Given the description of an element on the screen output the (x, y) to click on. 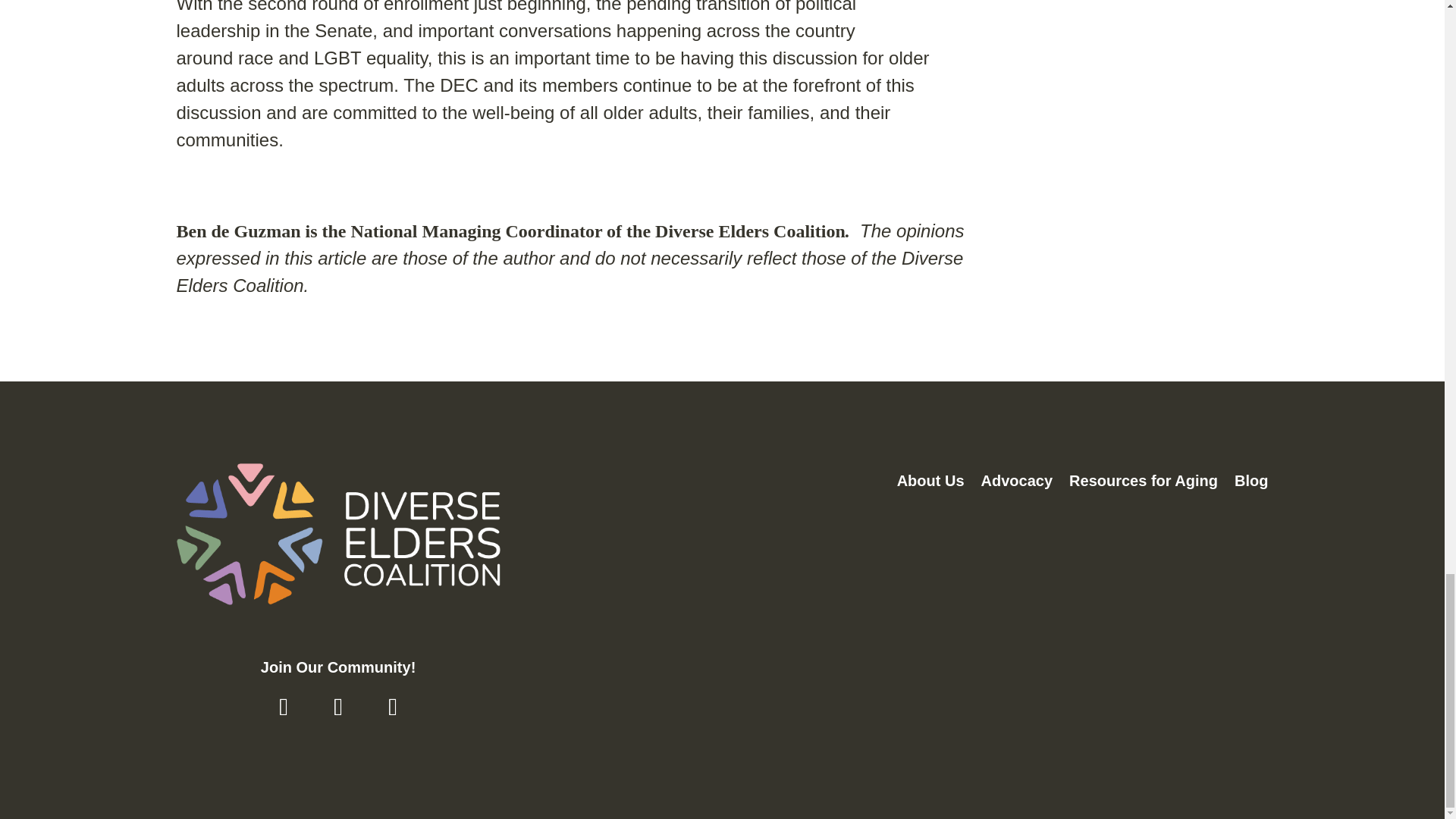
Follow on X (338, 706)
About Us (929, 483)
Advocacy (1016, 483)
Follow on Facebook (283, 706)
Resources for Aging (1142, 483)
Blog (1251, 483)
Follow on LinkedIn (392, 706)
